Given the description of an element on the screen output the (x, y) to click on. 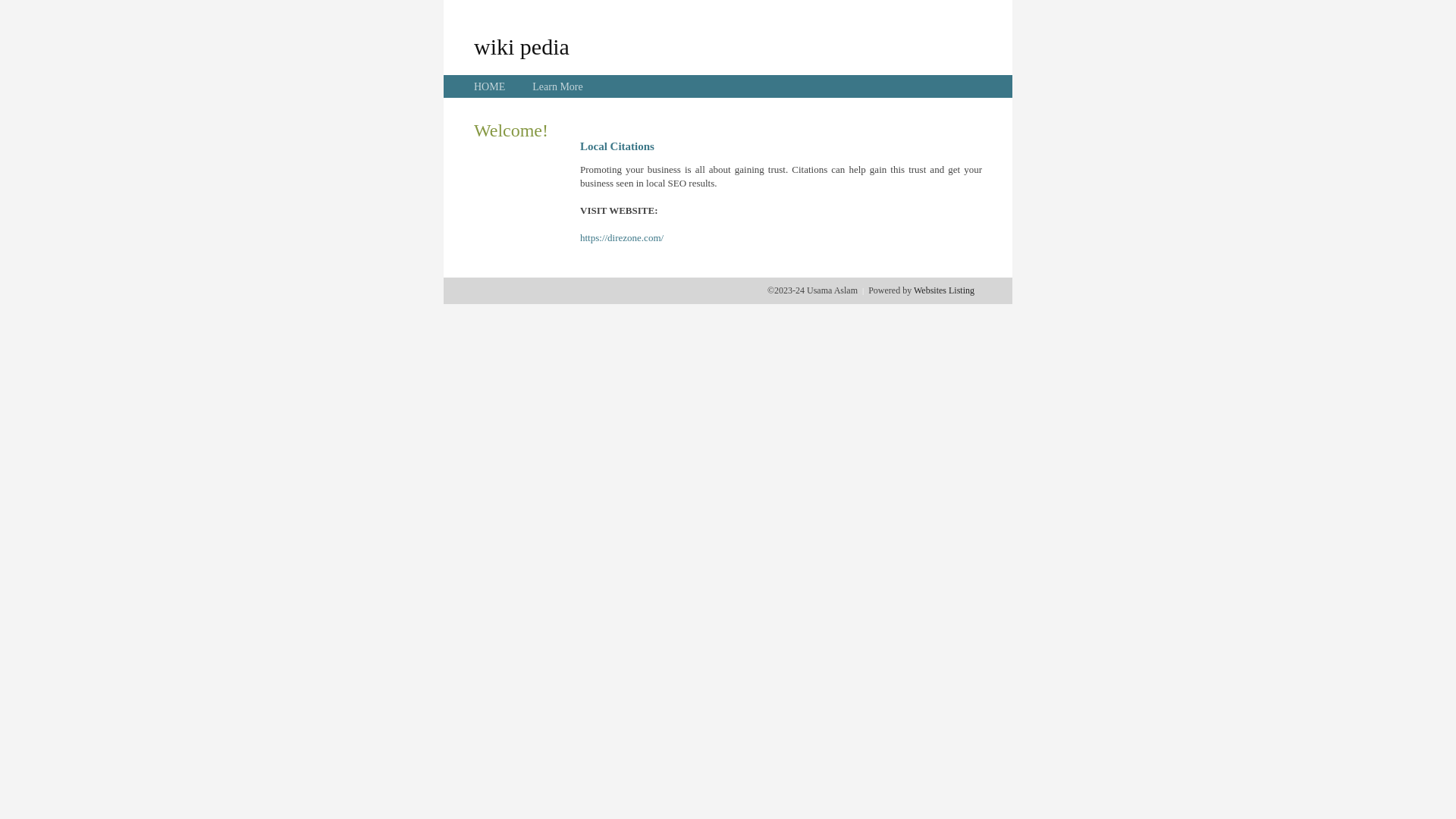
HOME Element type: text (489, 86)
wiki pedia Element type: text (521, 46)
https://direzone.com/ Element type: text (621, 237)
Websites Listing Element type: text (943, 290)
Learn More Element type: text (557, 86)
